Given the description of an element on the screen output the (x, y) to click on. 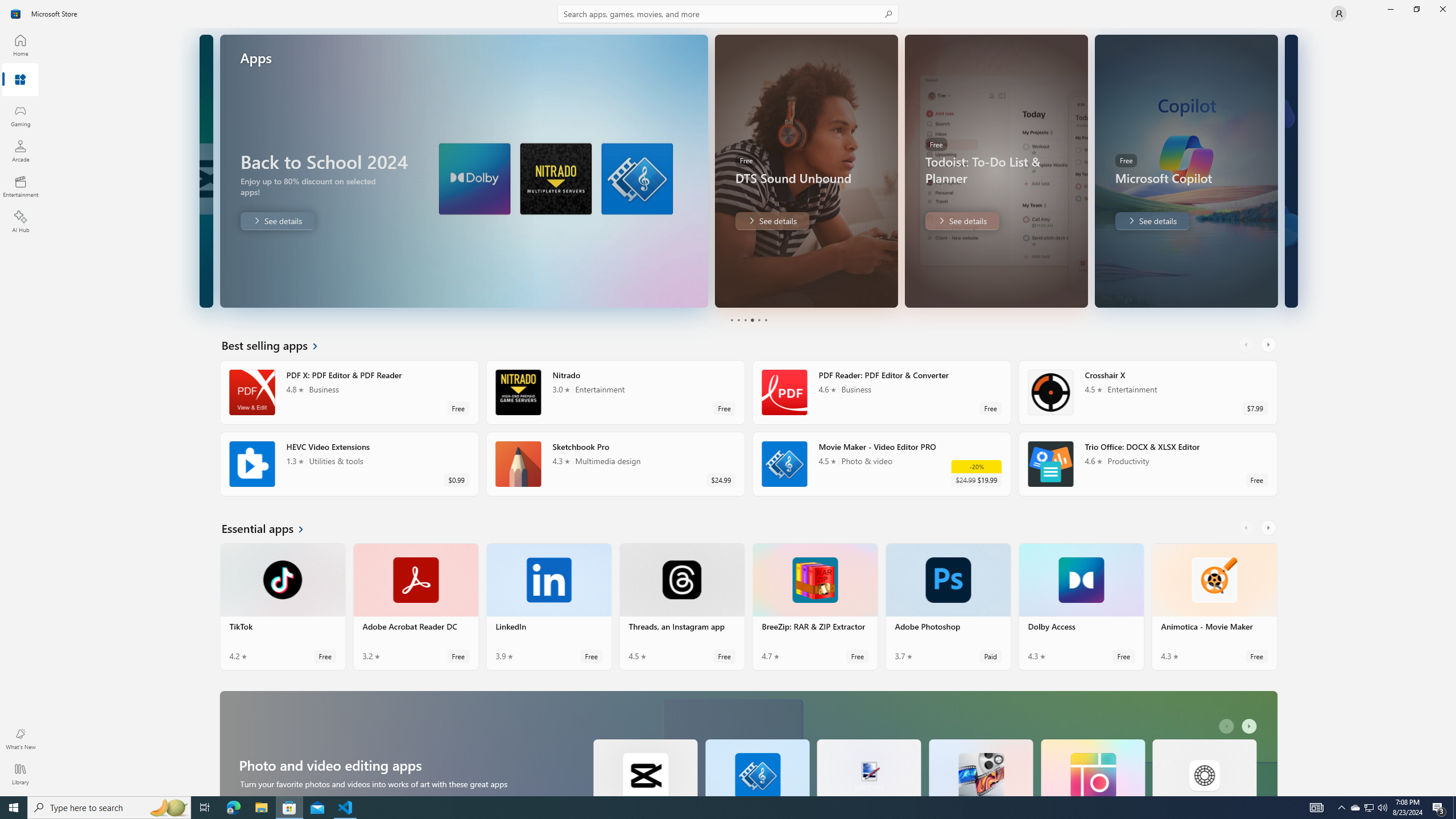
Page 1 (731, 319)
Page 3 (744, 319)
Apps (20, 80)
AutomationID: RightScrollButton (1250, 726)
See all  Best selling apps (276, 345)
AutomationID: NavigationControl (728, 398)
User profile (1338, 13)
Class: Image (15, 13)
Search (727, 13)
